Given the description of an element on the screen output the (x, y) to click on. 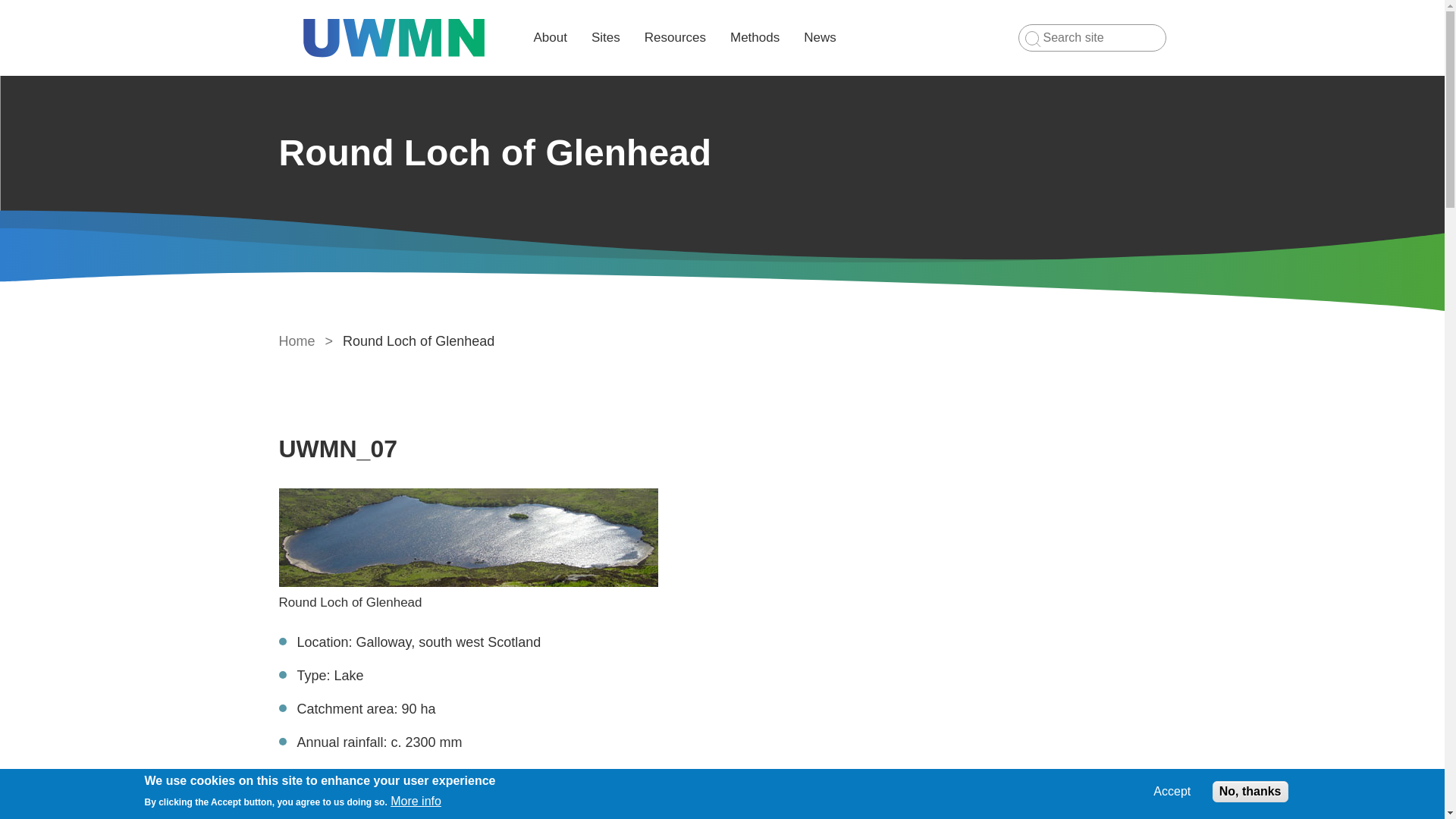
Skip to main content (721, 1)
About (550, 37)
Home (297, 340)
Methods (754, 37)
Sites (605, 37)
Resources (675, 37)
News (819, 37)
